Given the description of an element on the screen output the (x, y) to click on. 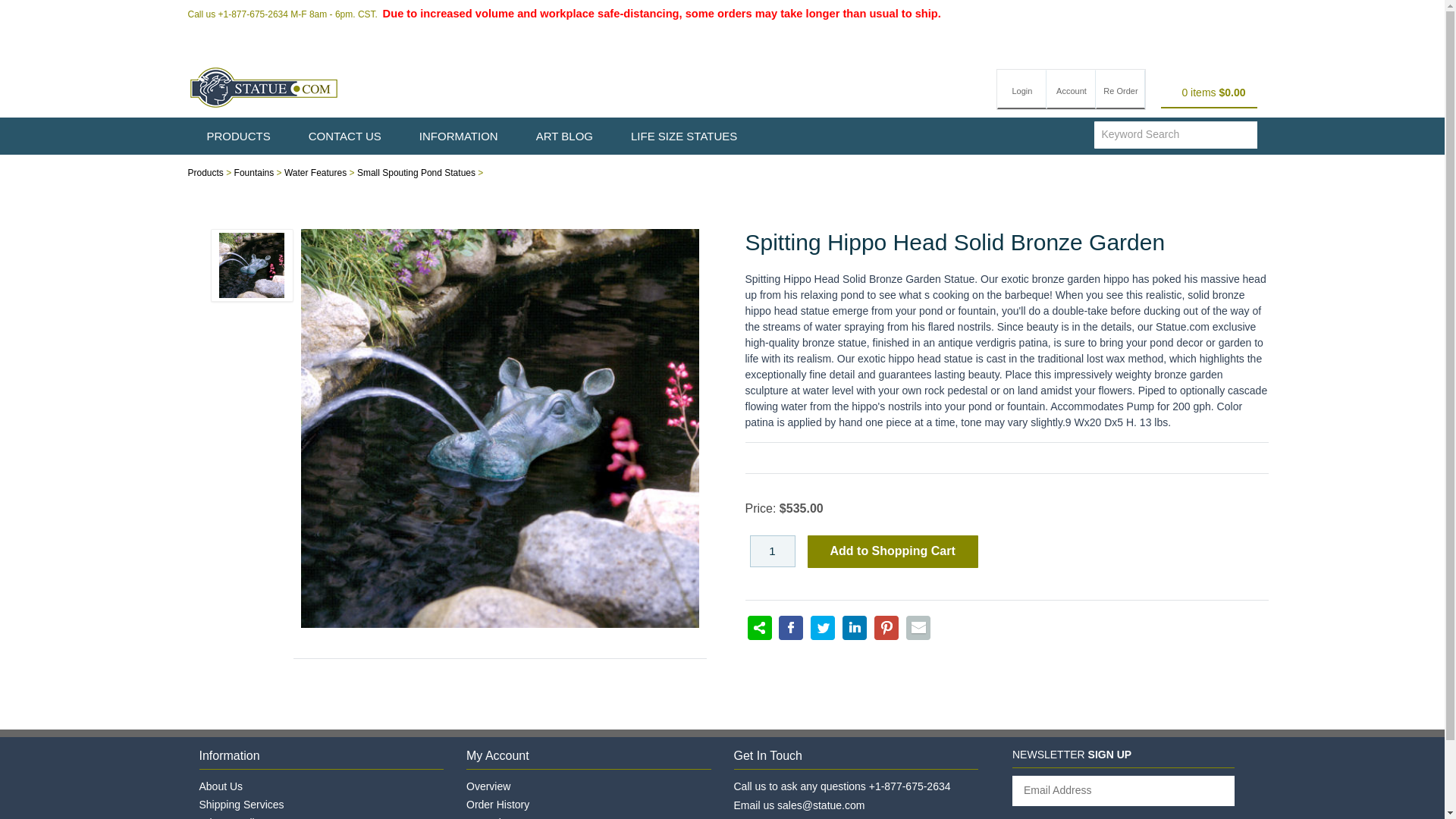
Account (1071, 88)
Small Spouting Pond Statues (416, 172)
CONTACT US (344, 135)
Re Order (1120, 88)
Login (1021, 88)
1 (771, 550)
Products (205, 172)
Add to Shopping Cart (891, 551)
Water Features (314, 172)
Login (1021, 88)
Fountains (254, 172)
PRODUCTS (238, 135)
INFORMATION (458, 135)
ART BLOG (563, 135)
LIFE SIZE STATUES (683, 135)
